Given the description of an element on the screen output the (x, y) to click on. 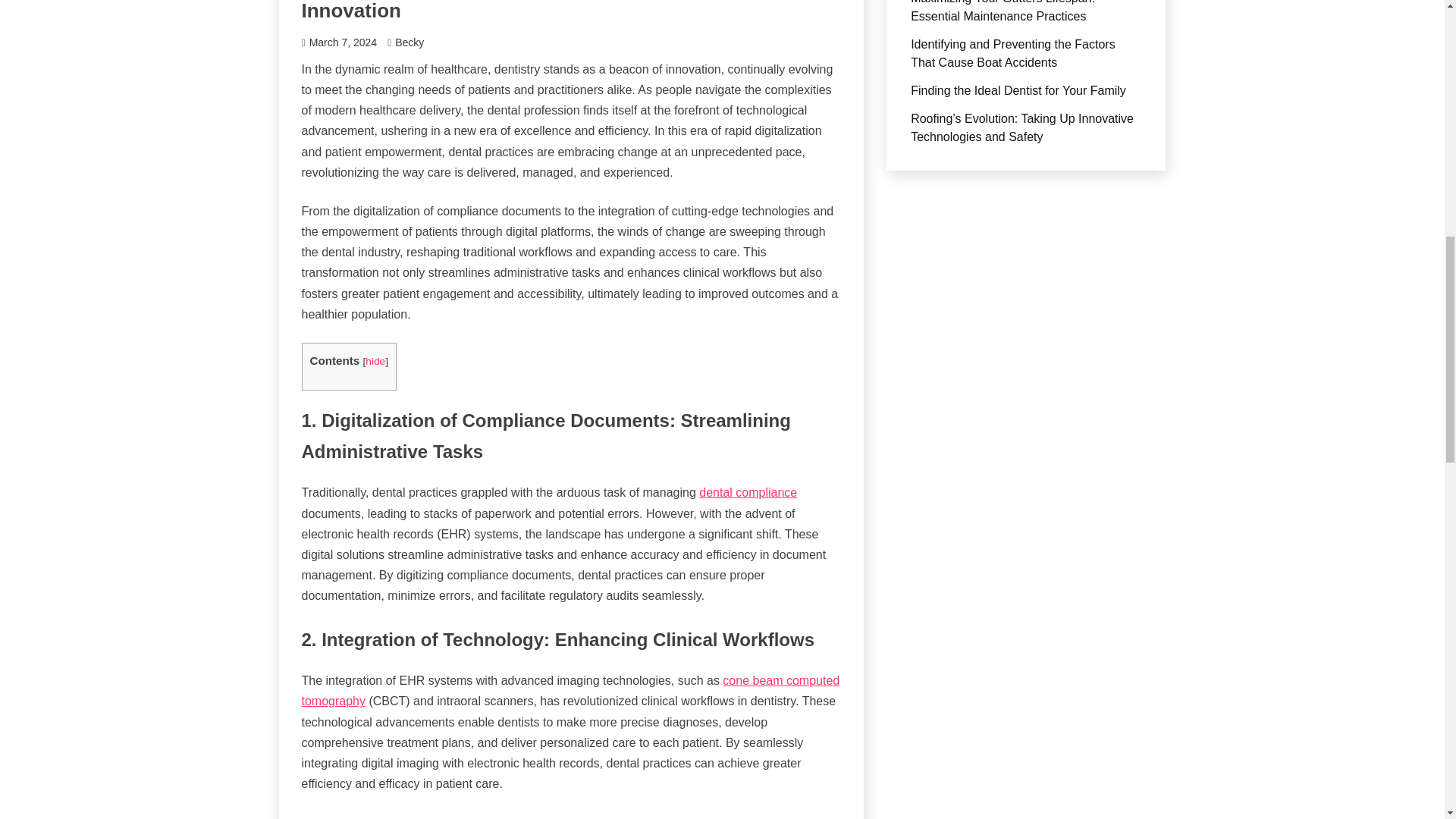
March 7, 2024 (342, 42)
dental compliance (747, 492)
hide (375, 360)
Becky (408, 42)
cone beam computed tomography (570, 690)
